Given the description of an element on the screen output the (x, y) to click on. 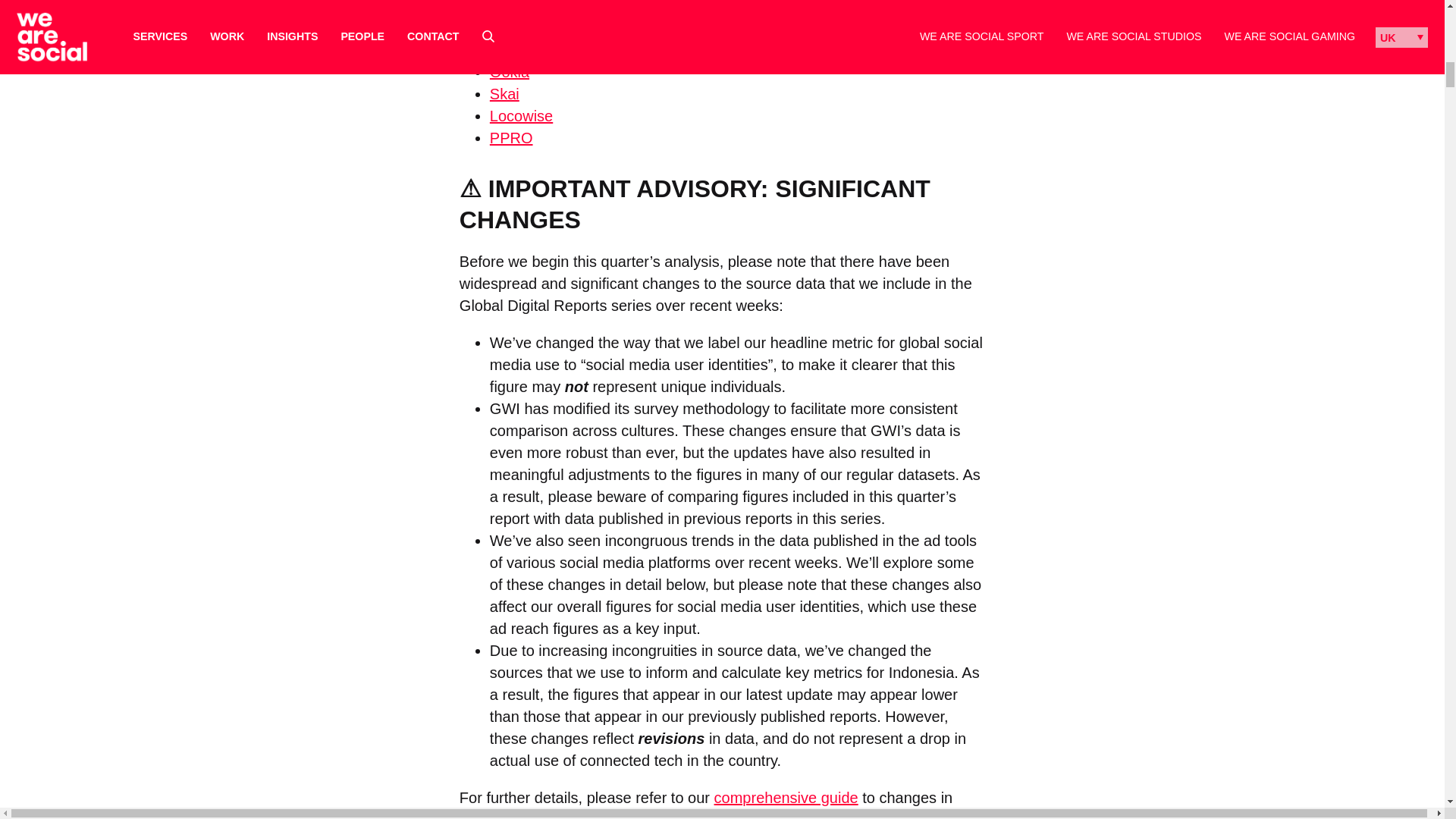
Semrush (519, 7)
Locowise (521, 115)
GSMA Intelligence (551, 27)
Ookla (509, 71)
Skai (504, 93)
PPRO (510, 137)
comprehensive guide (786, 797)
Similarweb (526, 49)
